Given the description of an element on the screen output the (x, y) to click on. 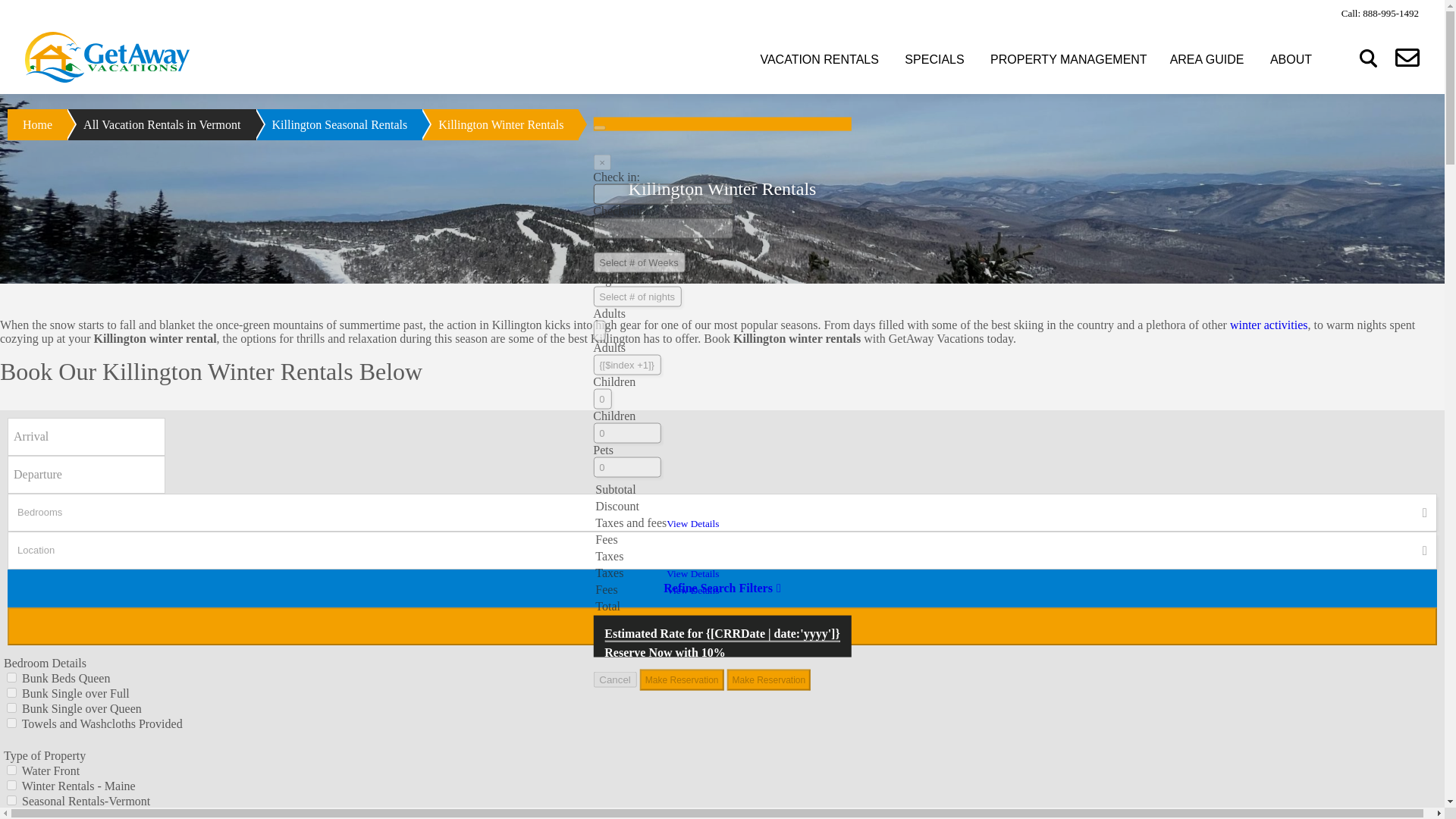
on (11, 769)
VACATION RENTALS (818, 59)
Call: 888-995-1492 (1379, 12)
on (11, 785)
on (11, 800)
PROPERTY MANAGEMENT (1068, 59)
Killington, VT Vacation Rentals by GetAway Vacations Logo (106, 56)
on (11, 723)
on (11, 677)
on (11, 692)
SPECIALS (934, 59)
on (11, 707)
